Given the description of an element on the screen output the (x, y) to click on. 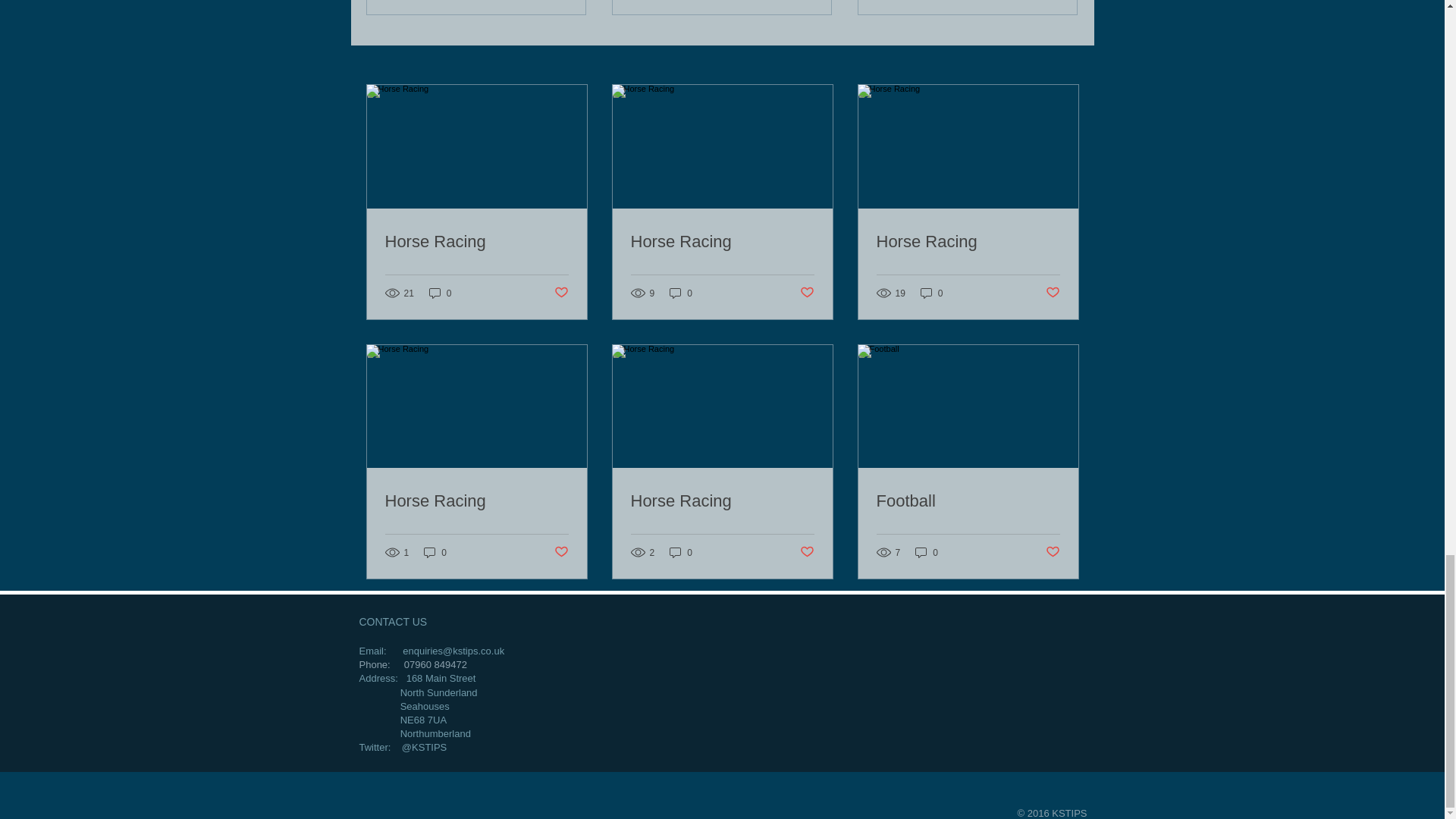
Post not marked as liked (560, 293)
Post not marked as liked (806, 293)
0 (440, 292)
Horse Racing (477, 241)
0 (681, 292)
Horse Racing (721, 241)
Horse Racing (967, 241)
